Given the description of an element on the screen output the (x, y) to click on. 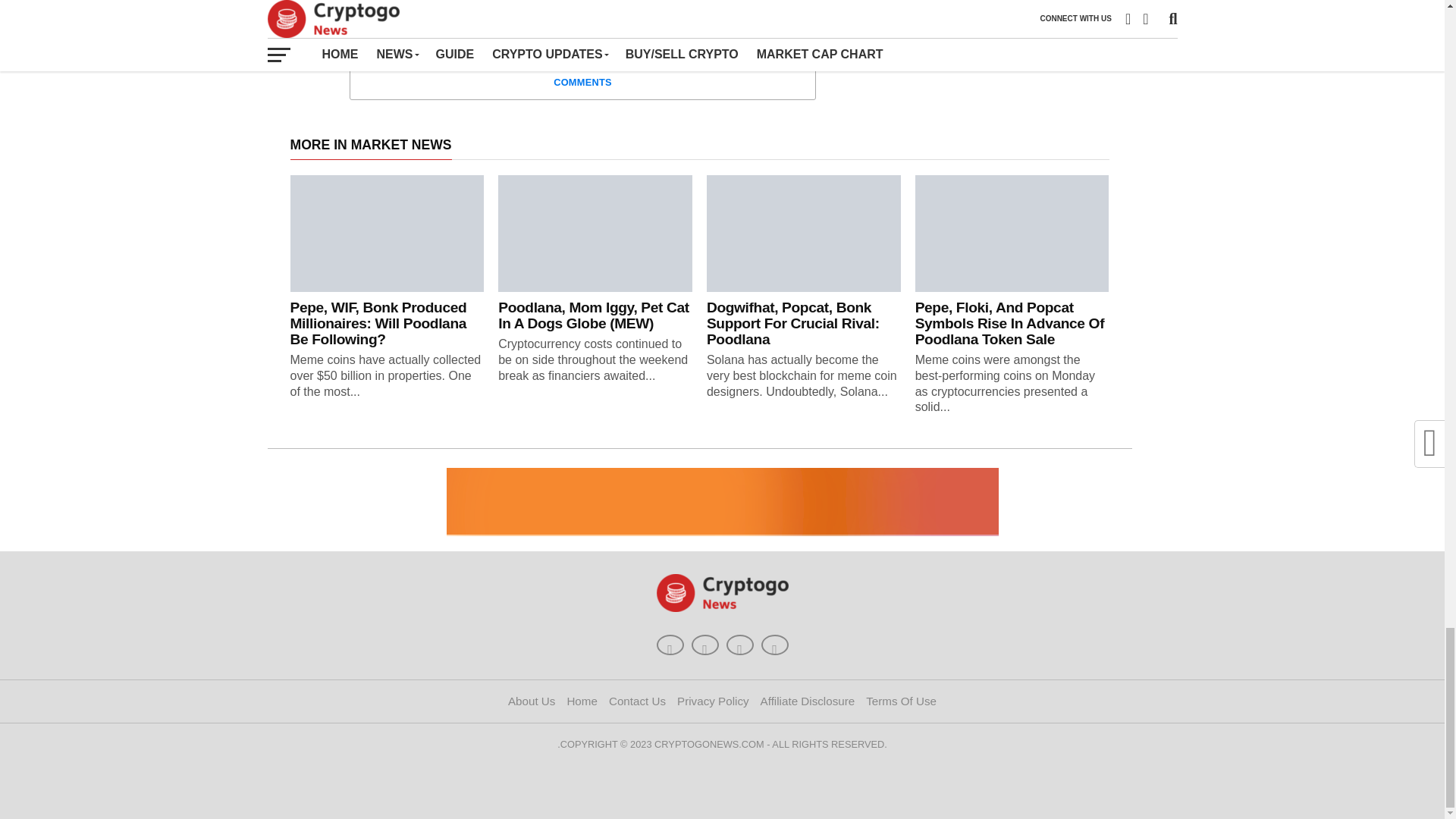
Bitcoin IRA (721, 501)
